Given the description of an element on the screen output the (x, y) to click on. 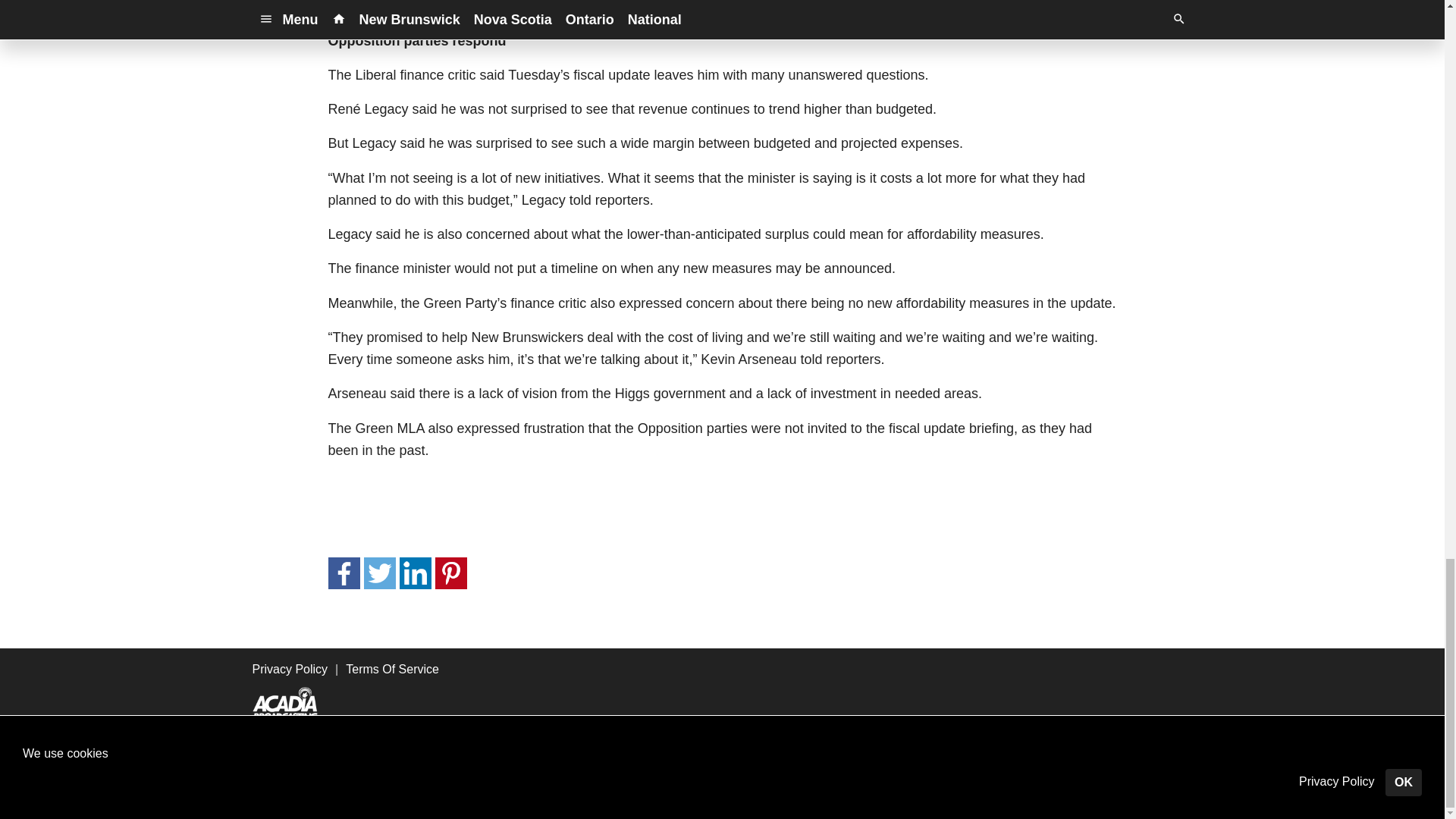
Privacy Policy (289, 669)
Terms of Service (688, 772)
Powered By SoCast (333, 797)
Privacy Policy (577, 772)
Terms Of Service (392, 669)
Powered By SoCast (333, 796)
